Given the description of an element on the screen output the (x, y) to click on. 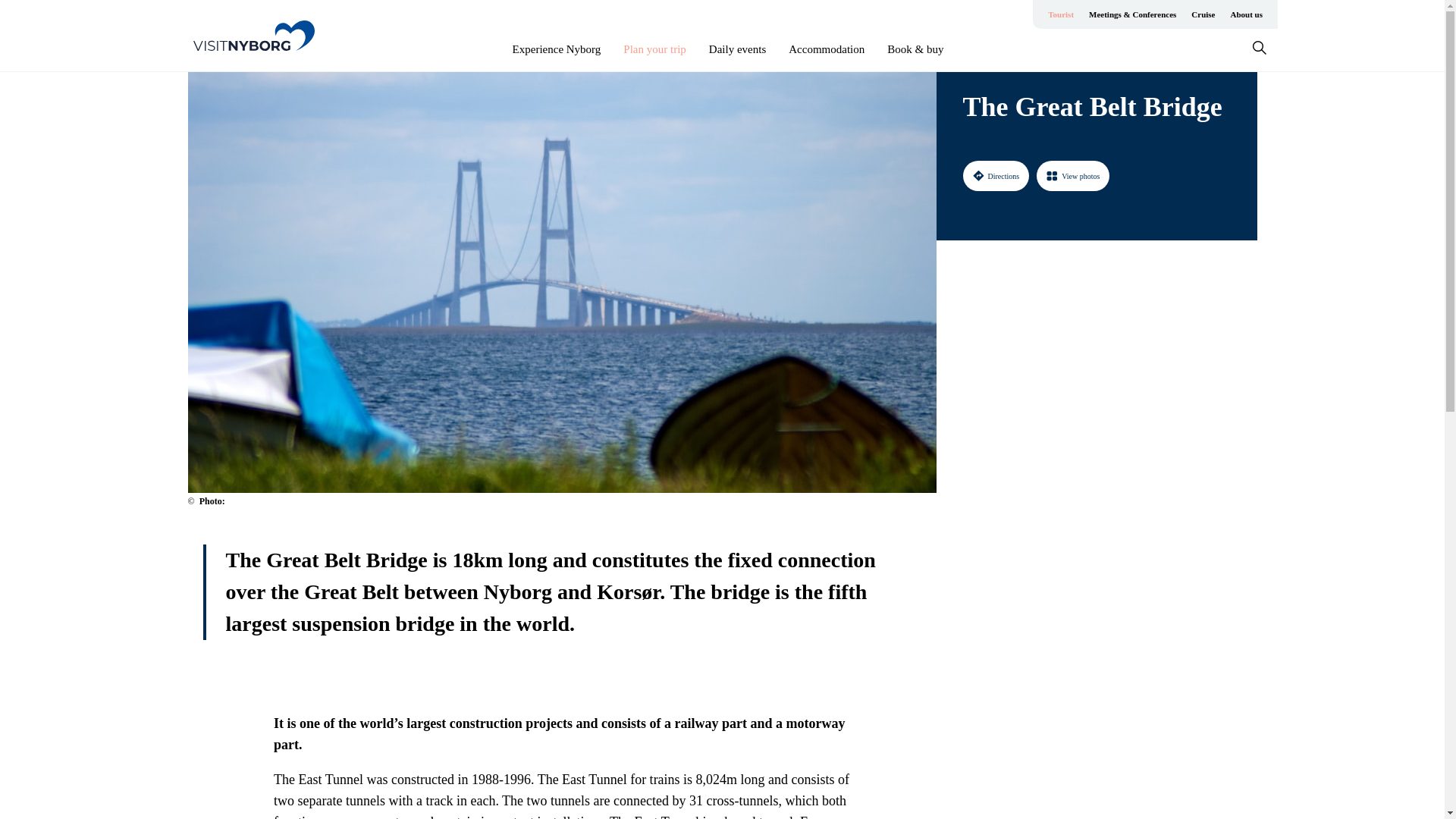
Plan your trip (654, 49)
About us (1246, 14)
View photos (1072, 175)
Go to homepage (253, 34)
Accommodation (826, 49)
Directions (995, 175)
Cruise (1203, 14)
Daily events (737, 49)
Experience Nyborg (556, 49)
Tourist (1061, 14)
